Given the description of an element on the screen output the (x, y) to click on. 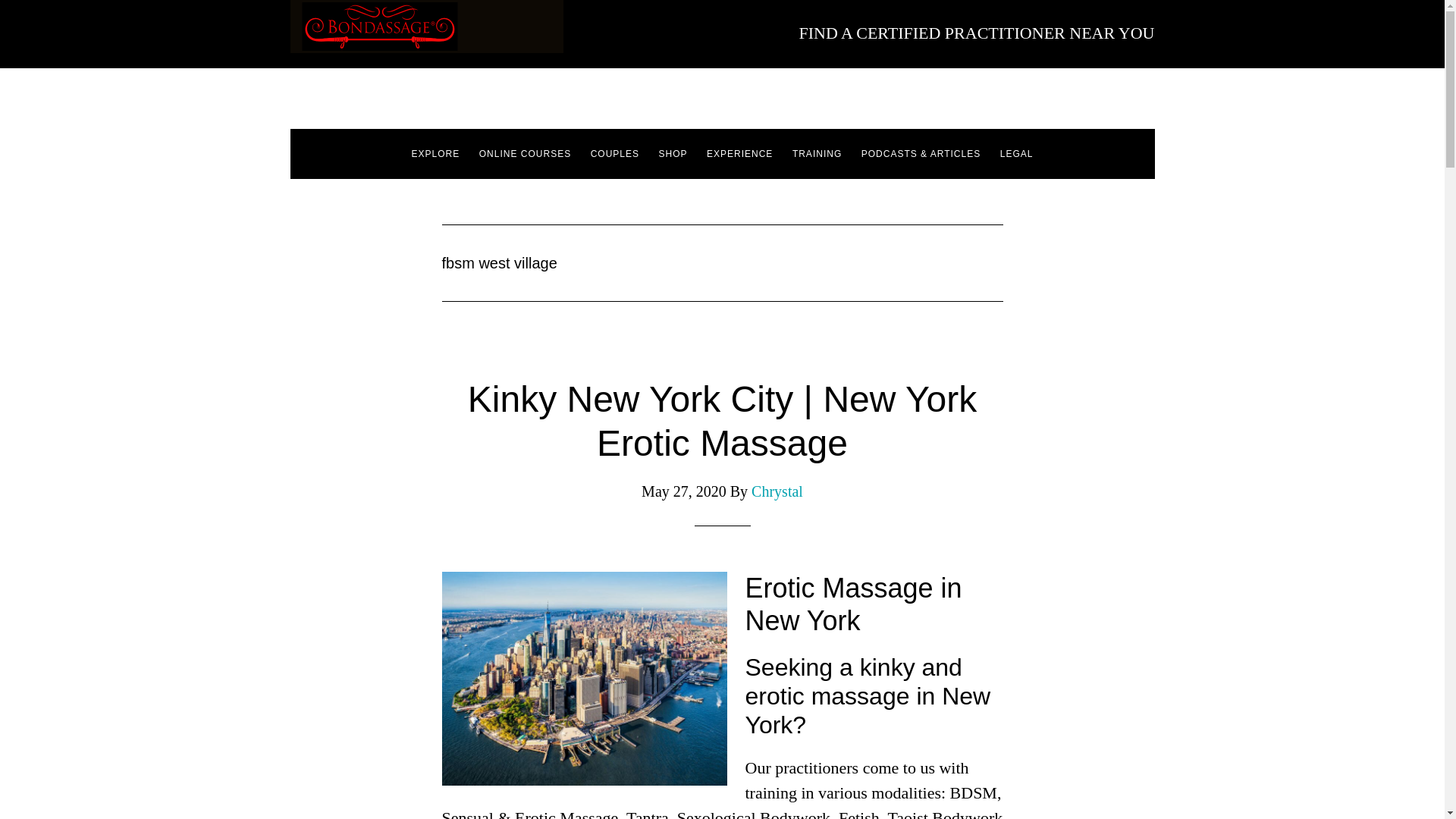
FIND A CERTIFIED PRACTITIONER NEAR YOU (975, 32)
Chrystal (777, 491)
EXPLORE (435, 153)
LEGAL (1016, 153)
TRAINING (816, 153)
EXPERIENCE (739, 153)
ONLINE COURSES (524, 153)
COUPLES (614, 153)
